Given the description of an element on the screen output the (x, y) to click on. 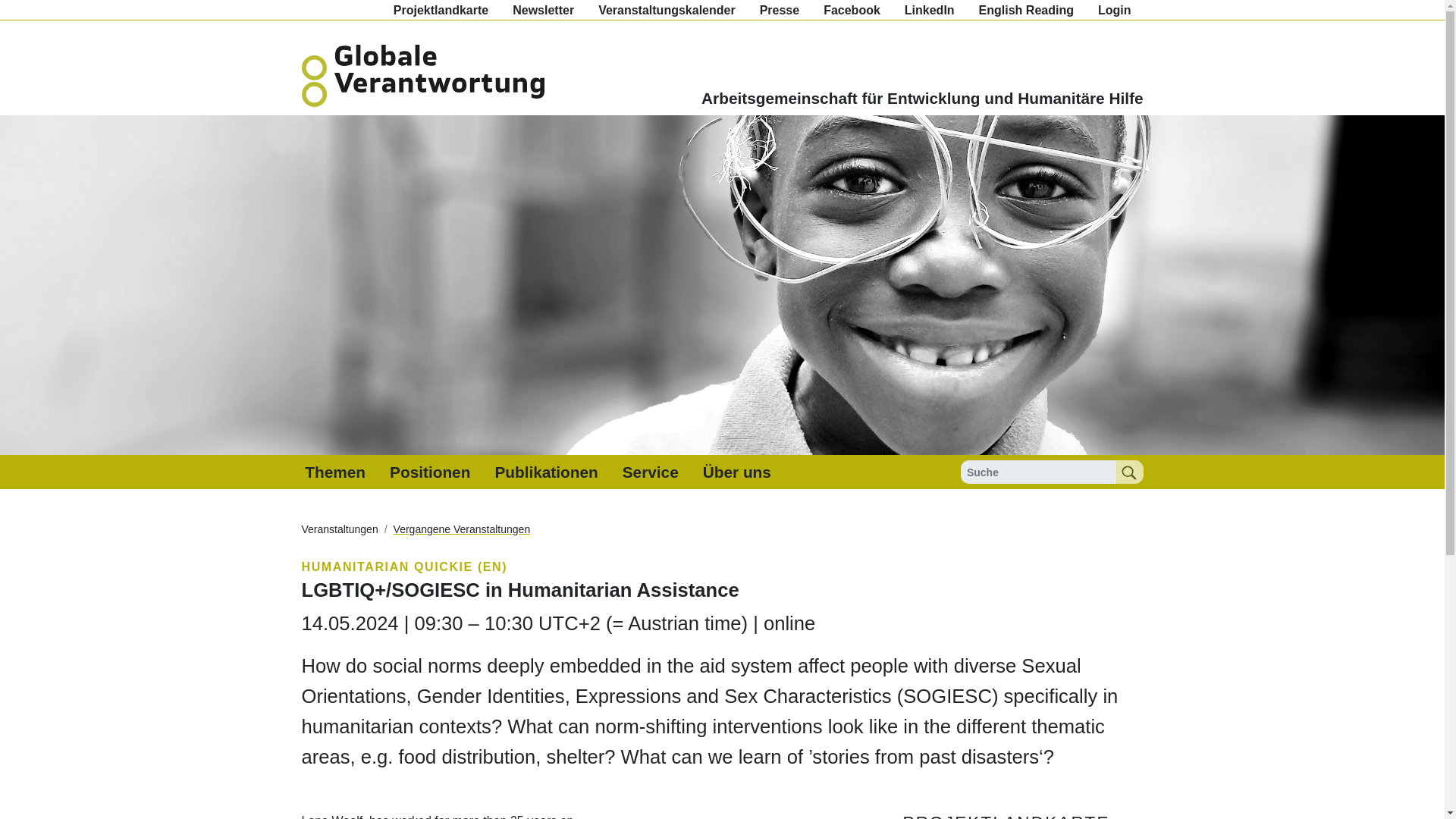
Facebook (851, 9)
Facebook (851, 9)
Login (1114, 9)
Newsletter (543, 9)
Projektlandkarte (440, 9)
Veranstaltungskalender (667, 9)
Presse (780, 9)
Newsletter (543, 9)
Veranstaltungskalender (667, 9)
Presse (780, 9)
Themen (334, 471)
Login (1114, 9)
Positionen (429, 471)
Themen (334, 471)
Projektlandkarte (440, 9)
